Given the description of an element on the screen output the (x, y) to click on. 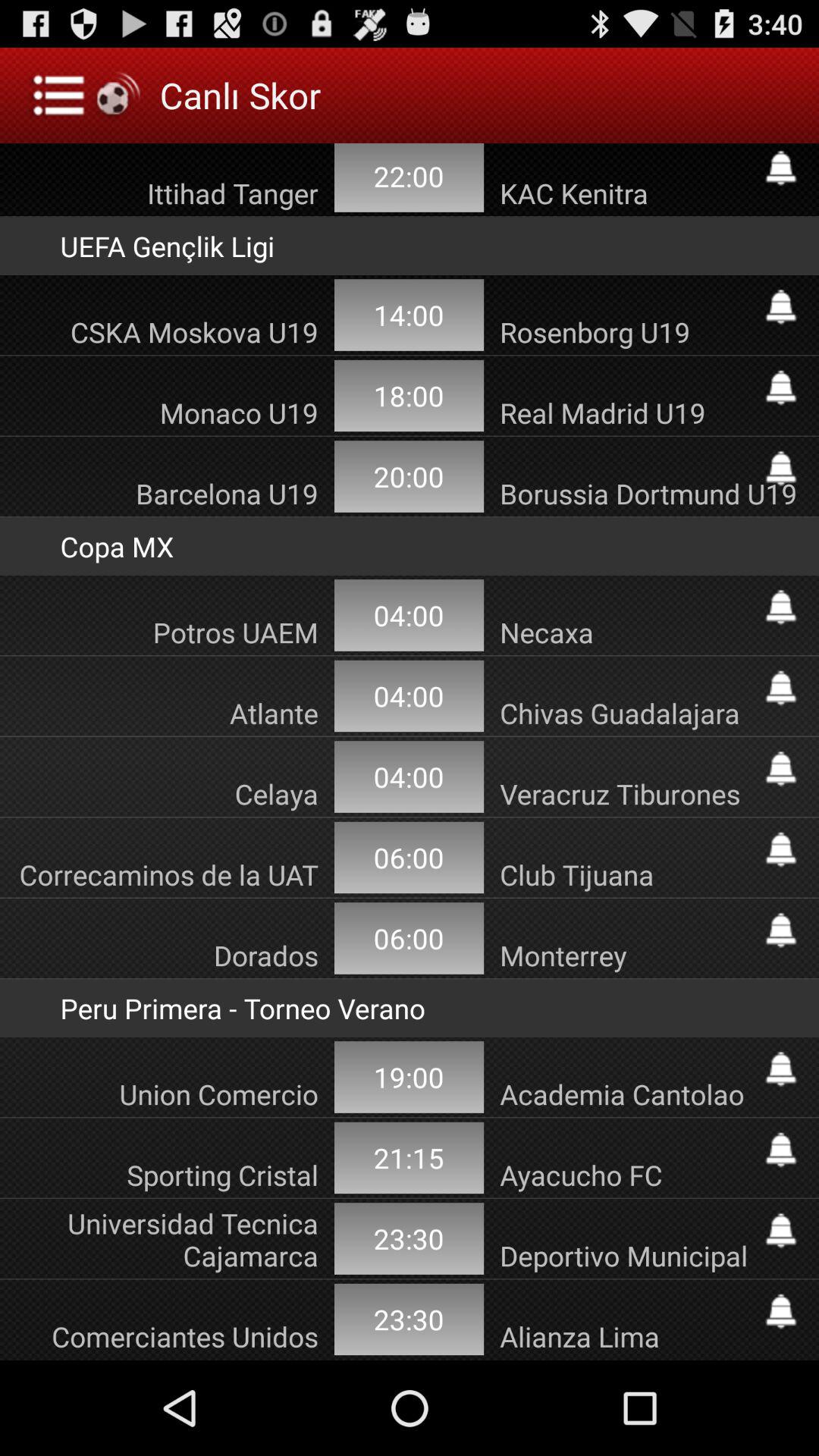
toggle notification for game (780, 1230)
